Given the description of an element on the screen output the (x, y) to click on. 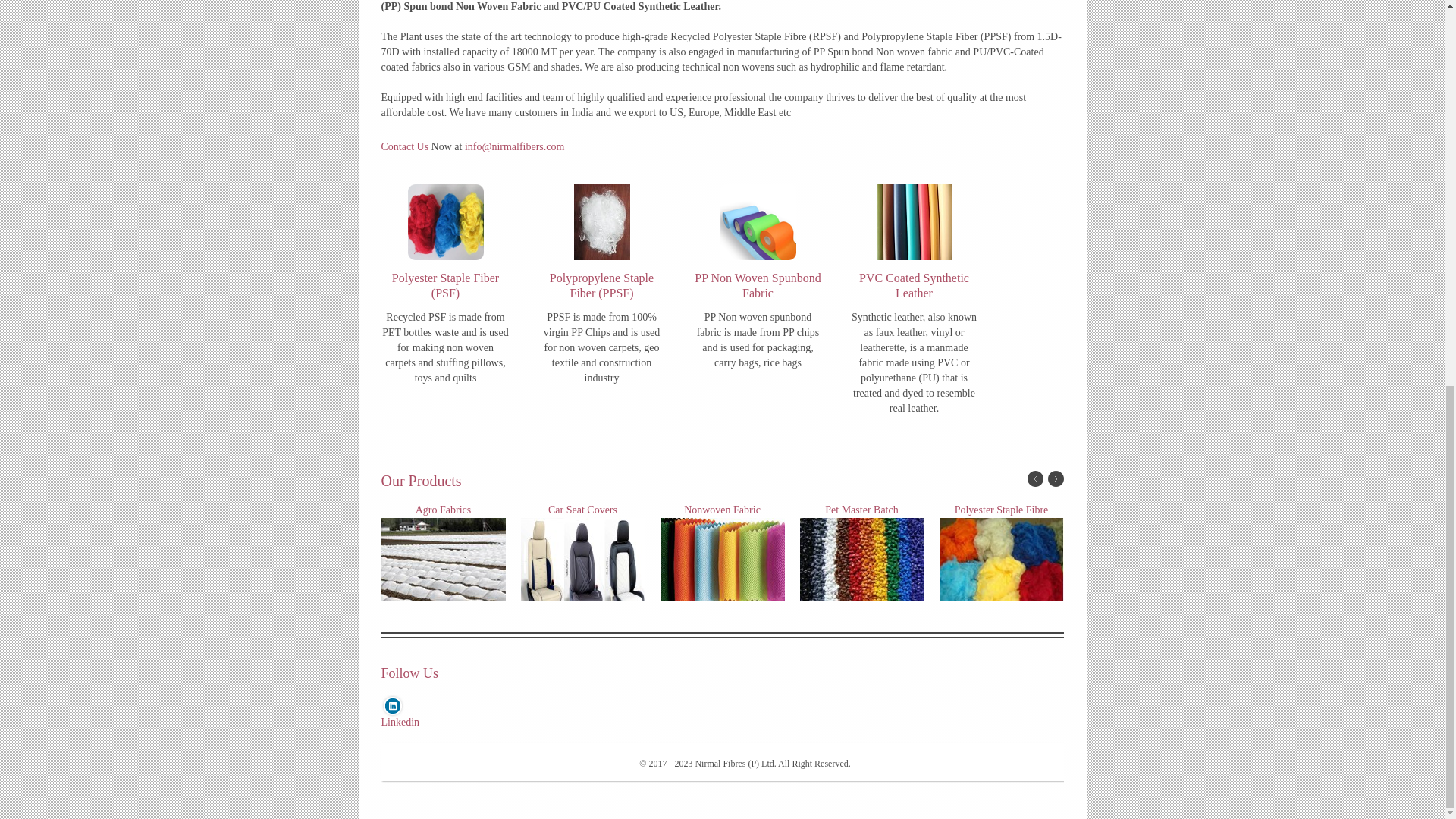
PP Non Woven Spunbond Fabric (757, 290)
Agro Fabrics (442, 560)
PVC Coated Synthetic Leather (913, 290)
Next (1056, 478)
Prev (1034, 478)
Contact Us (404, 146)
